Given the description of an element on the screen output the (x, y) to click on. 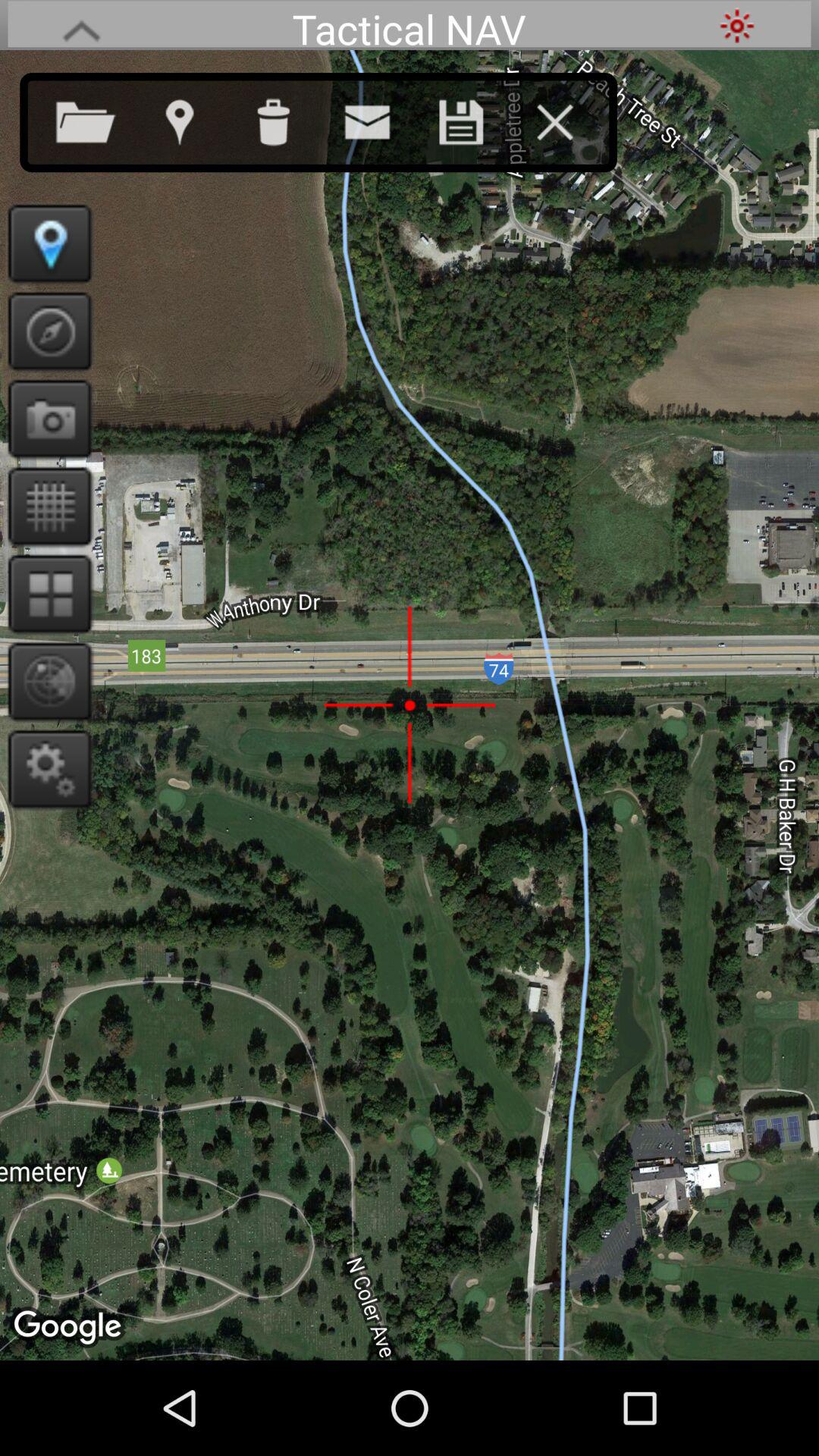
tap app next to tactical nav app (737, 25)
